Given the description of an element on the screen output the (x, y) to click on. 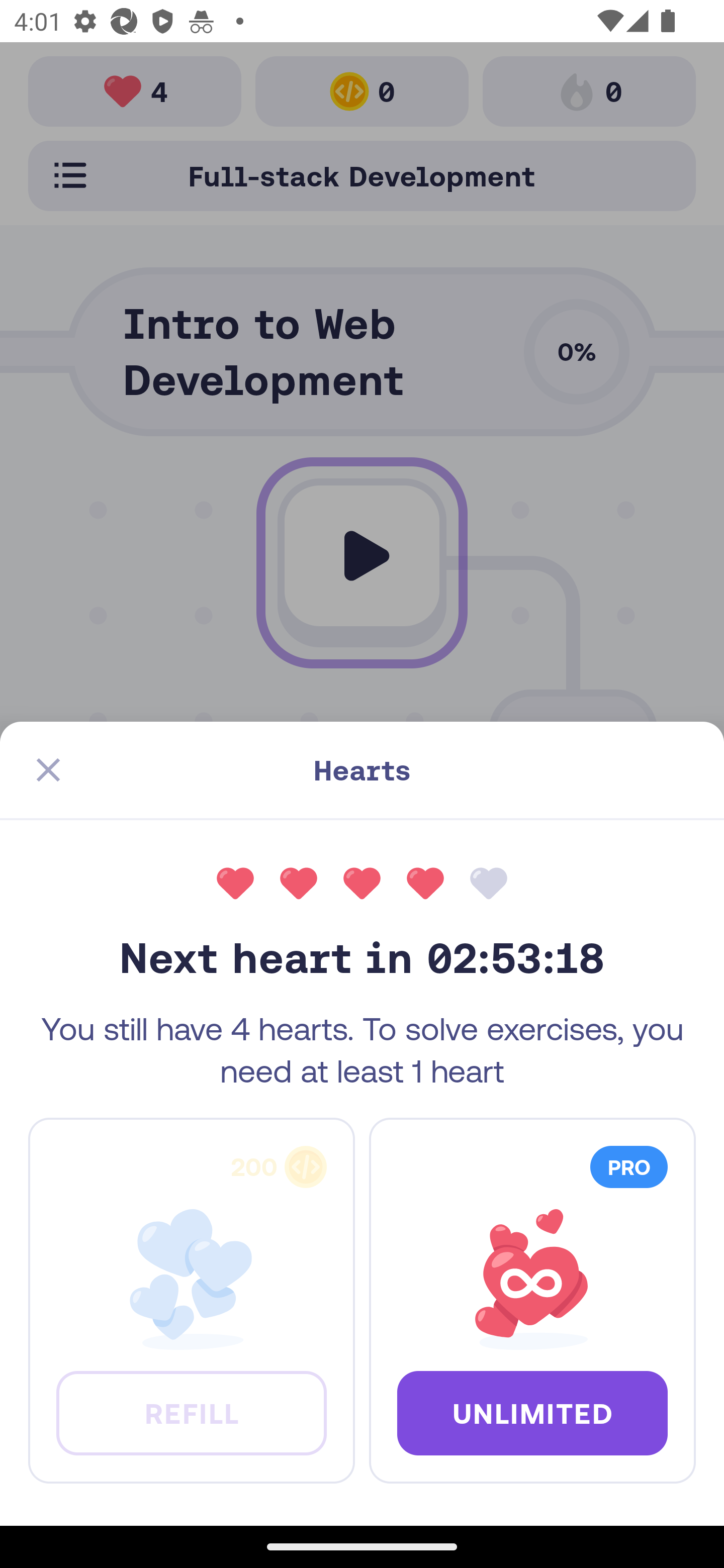
Close (47, 769)
REFILL (191, 1412)
UNLIMITED (532, 1412)
